Given the description of an element on the screen output the (x, y) to click on. 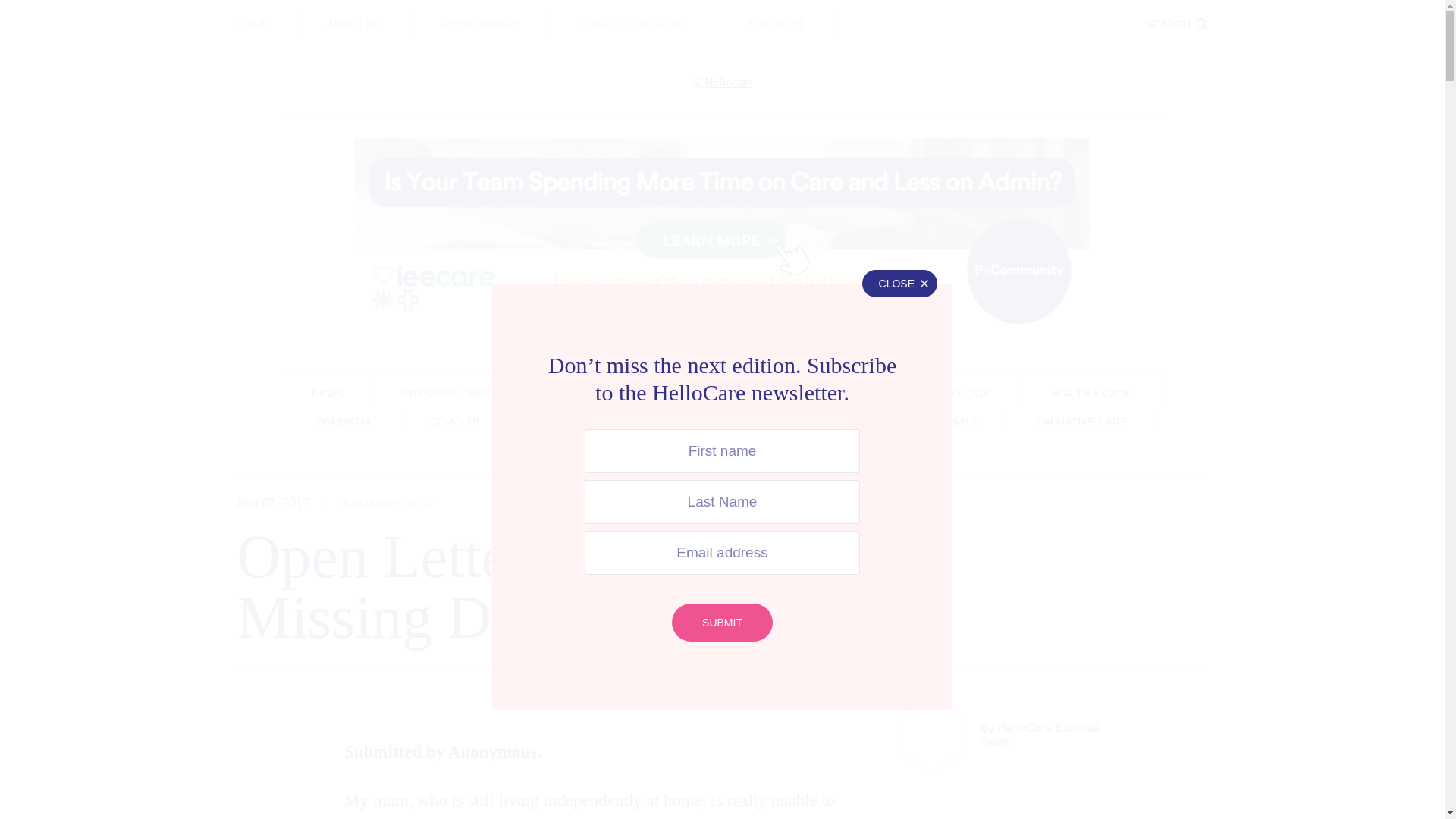
ADVERTISE (775, 24)
SOCIAL IMPACT (480, 24)
EDUCATION (721, 13)
SHARE YOUR STORY (632, 24)
Submit (722, 622)
SEARCH (1176, 24)
HOME (251, 24)
ABOUT US (354, 24)
